Given the description of an element on the screen output the (x, y) to click on. 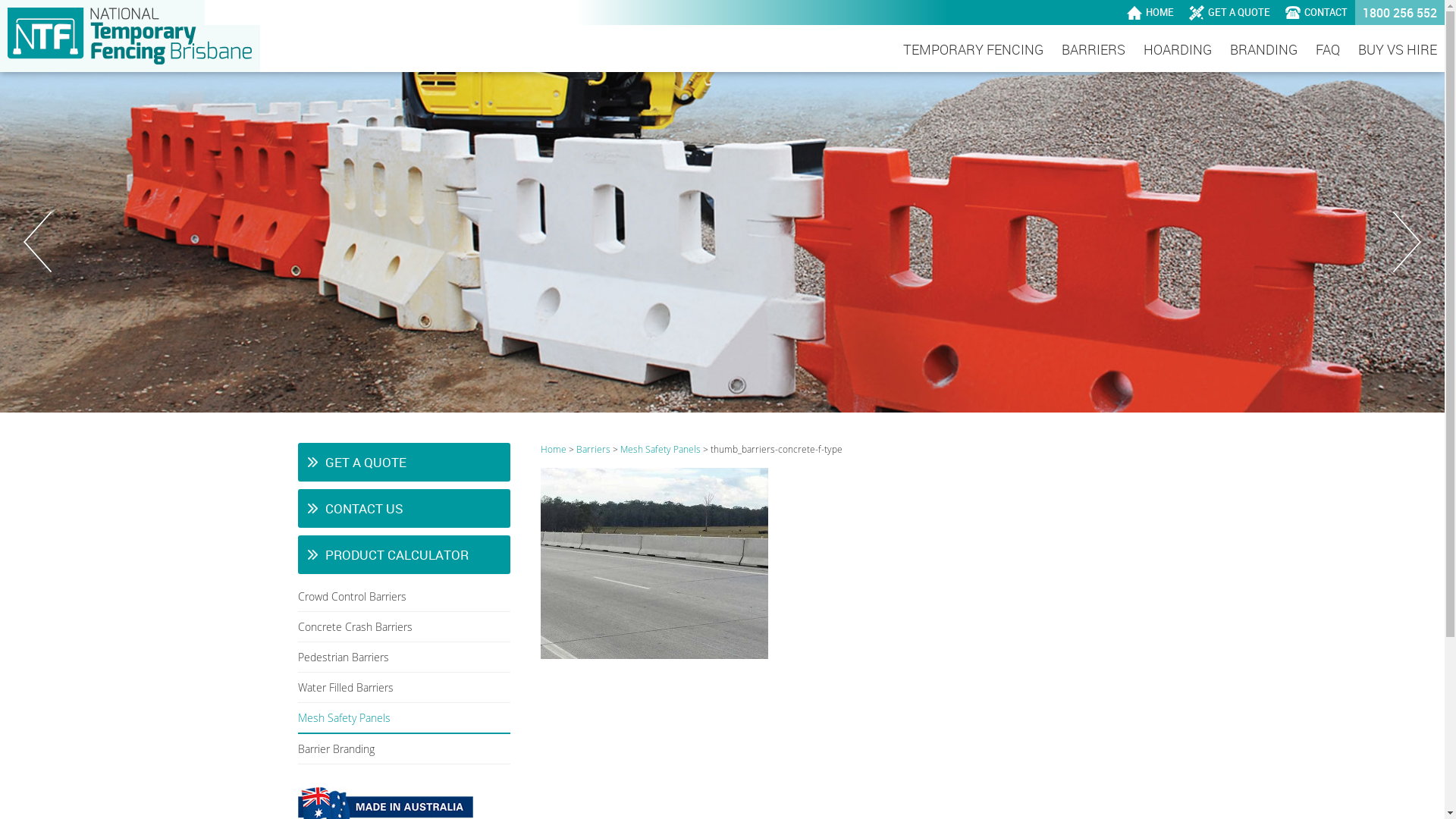
Barriers Element type: text (593, 448)
Concrete Crash Barriers Element type: text (403, 626)
Previous Slide Element type: text (37, 241)
HOME Element type: text (1150, 12)
GET A QUOTE Element type: text (1229, 12)
Mesh Safety Panels Element type: text (660, 448)
BARRIERS Element type: text (1093, 50)
Crowd Control Barriers Element type: text (403, 596)
Water Filled Barriers Element type: text (403, 687)
Mesh Safety Panels Element type: text (403, 718)
Next Slide Element type: text (1406, 241)
BUY VS HIRE Element type: text (1397, 50)
GET A QUOTE Element type: text (403, 461)
1800 256 552 Element type: text (1399, 12)
PRODUCT CALCULATOR Element type: text (403, 554)
Barrier Branding Element type: text (403, 749)
CONTACT Element type: text (1316, 12)
TEMPORARY FENCING Element type: text (973, 50)
FAQ Element type: text (1327, 50)
Home Element type: text (552, 448)
HOARDING Element type: text (1177, 50)
CONTACT US Element type: text (403, 508)
Pedestrian Barriers Element type: text (403, 657)
BRANDING Element type: text (1263, 50)
